Given the description of an element on the screen output the (x, y) to click on. 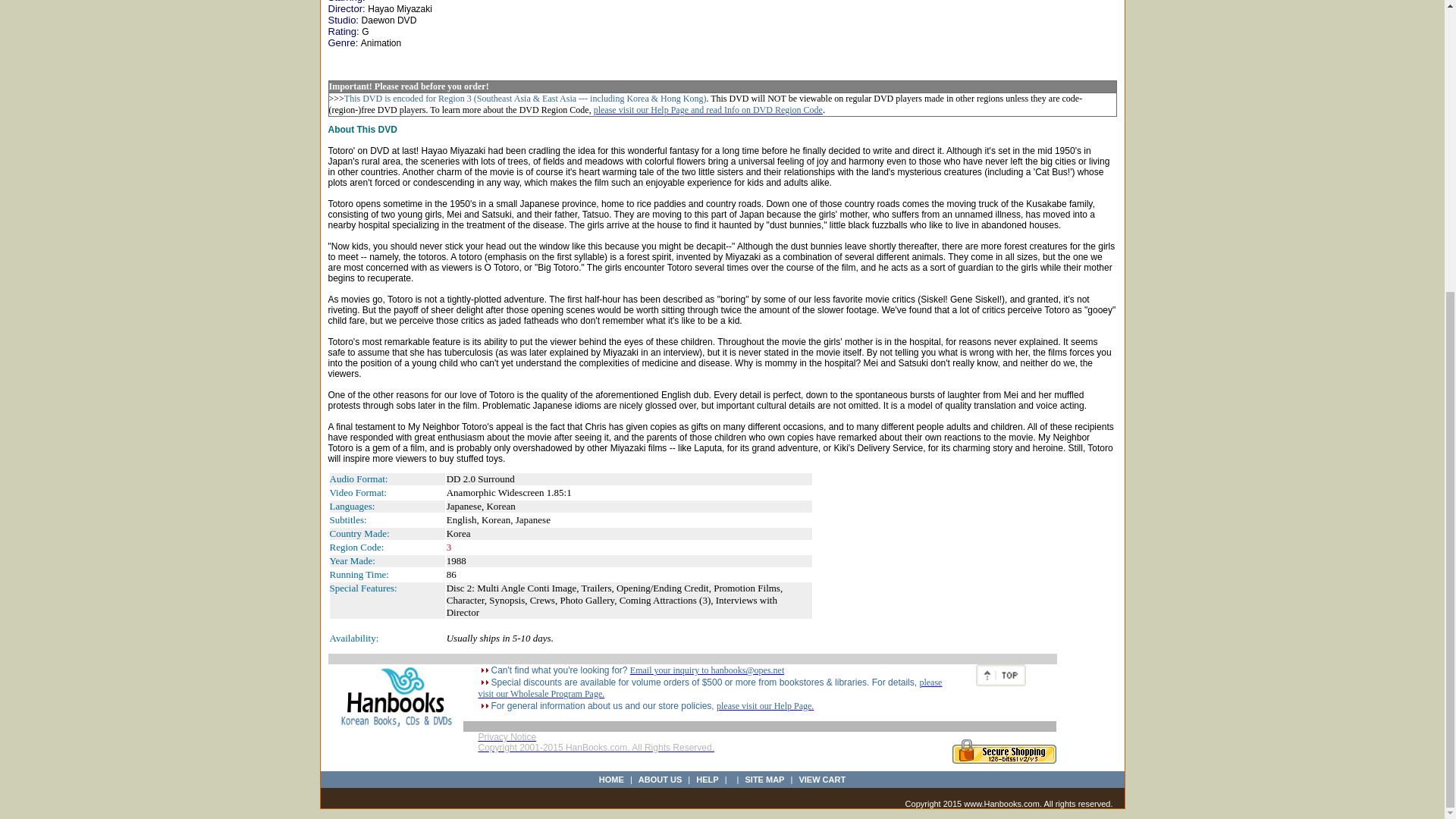
HOME (611, 778)
Privacy Notice (506, 737)
please visit our Help Page. (764, 706)
please visit our Wholesale Program Page. (709, 688)
VIEW CART (821, 778)
HELP (707, 778)
ABOUT US (659, 778)
SITE MAP (765, 778)
Copyright 2001-2015 HanBooks.com. All Rights Reserved. (595, 752)
please visit our Help Page and read Info on DVD Region Code (708, 109)
